Given the description of an element on the screen output the (x, y) to click on. 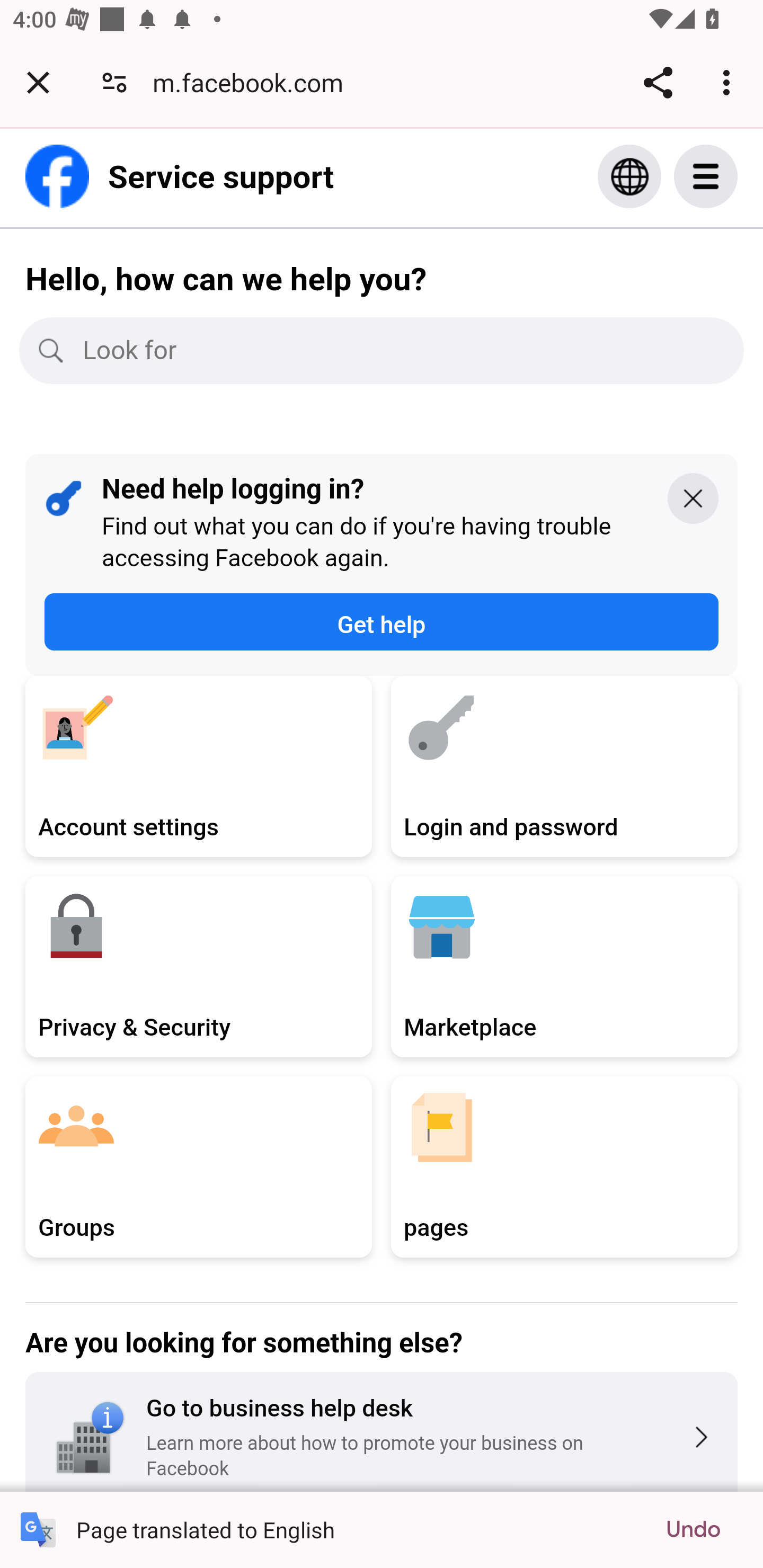
Close tab (38, 82)
Share (657, 82)
Customize and control Google Chrome (729, 82)
Connection is secure (114, 81)
m.facebook.com (254, 81)
Service support S9-8mgjtmdP Service support (180, 176)
Select language (629, 176)
Help Desk Menu (724, 176)
Close (692, 497)
Get help (381, 622)
Undo (693, 1529)
